Given the description of an element on the screen output the (x, y) to click on. 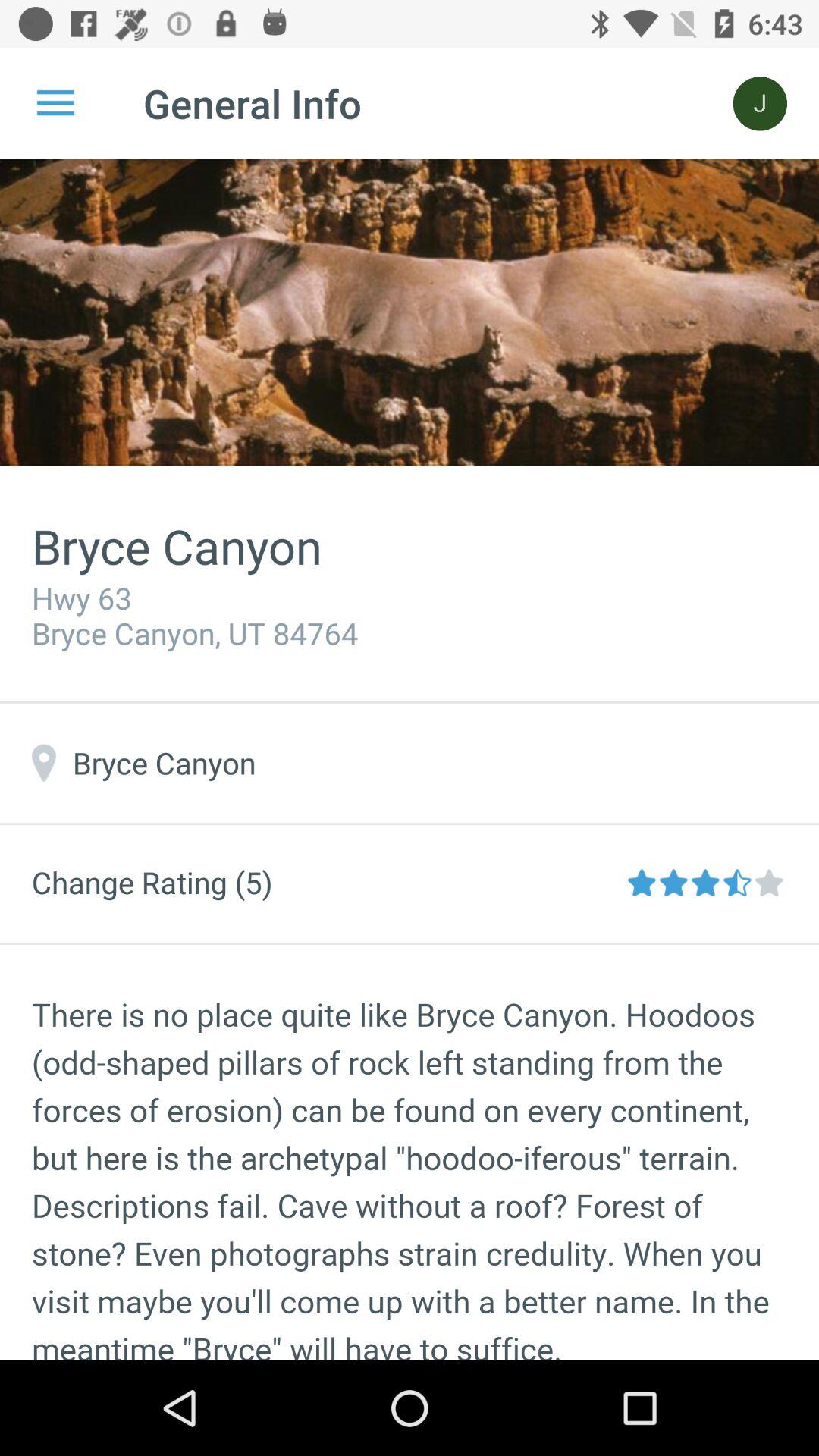
click icon next to the general info (760, 103)
